Given the description of an element on the screen output the (x, y) to click on. 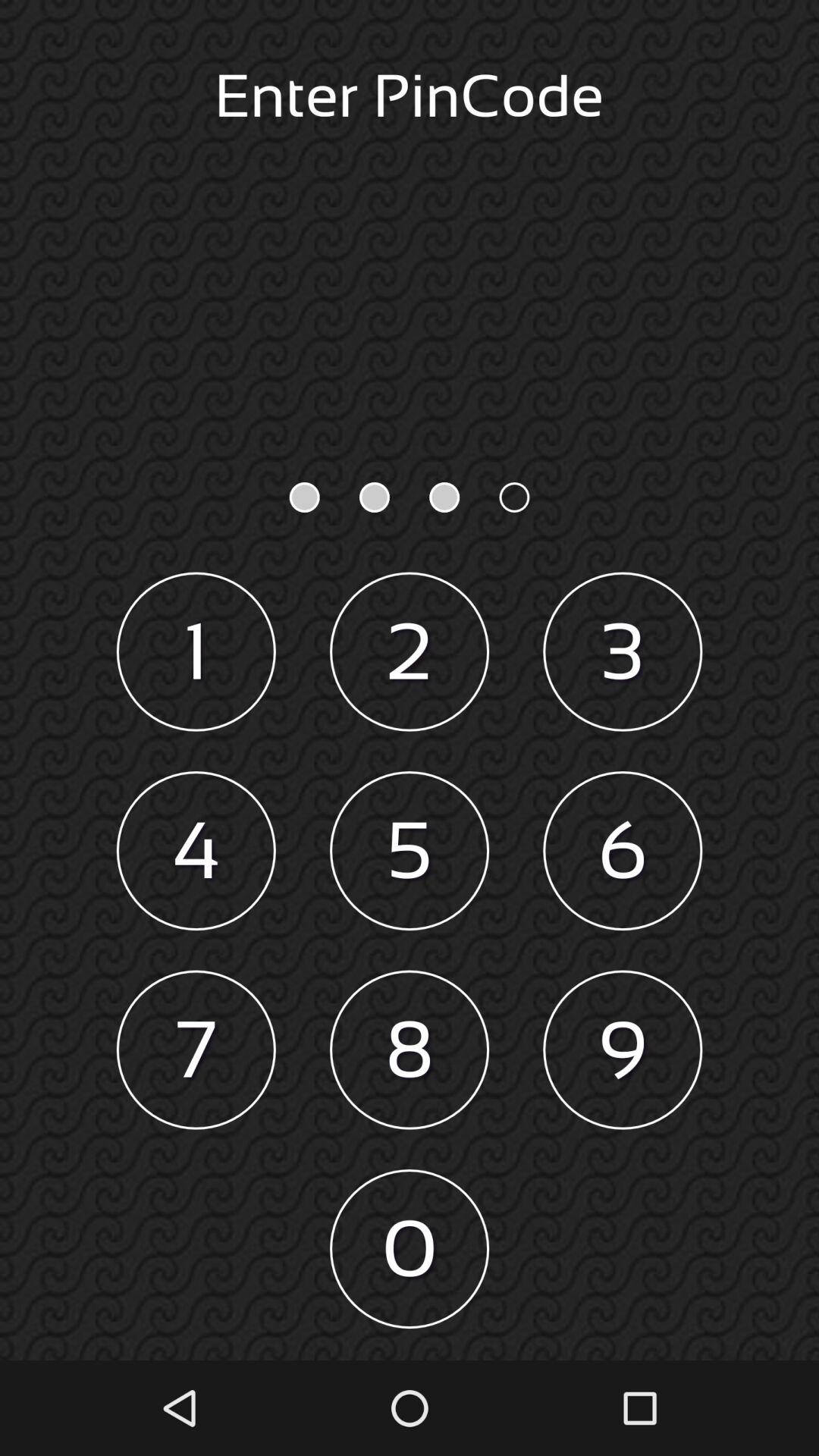
turn off the icon at the bottom left corner (195, 1049)
